Given the description of an element on the screen output the (x, y) to click on. 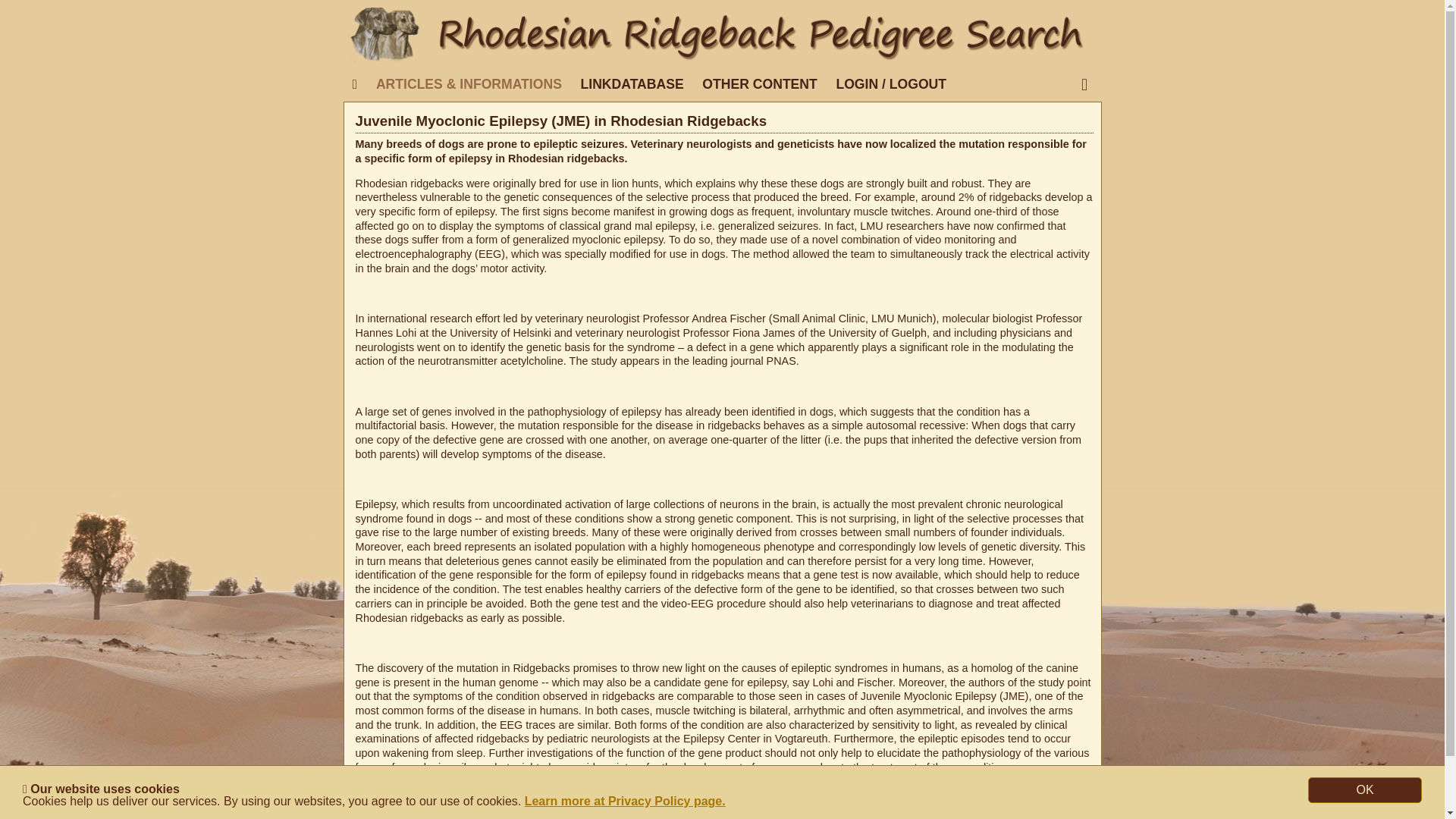
OTHER CONTENT (760, 84)
LINKDATABASE (631, 84)
